Given the description of an element on the screen output the (x, y) to click on. 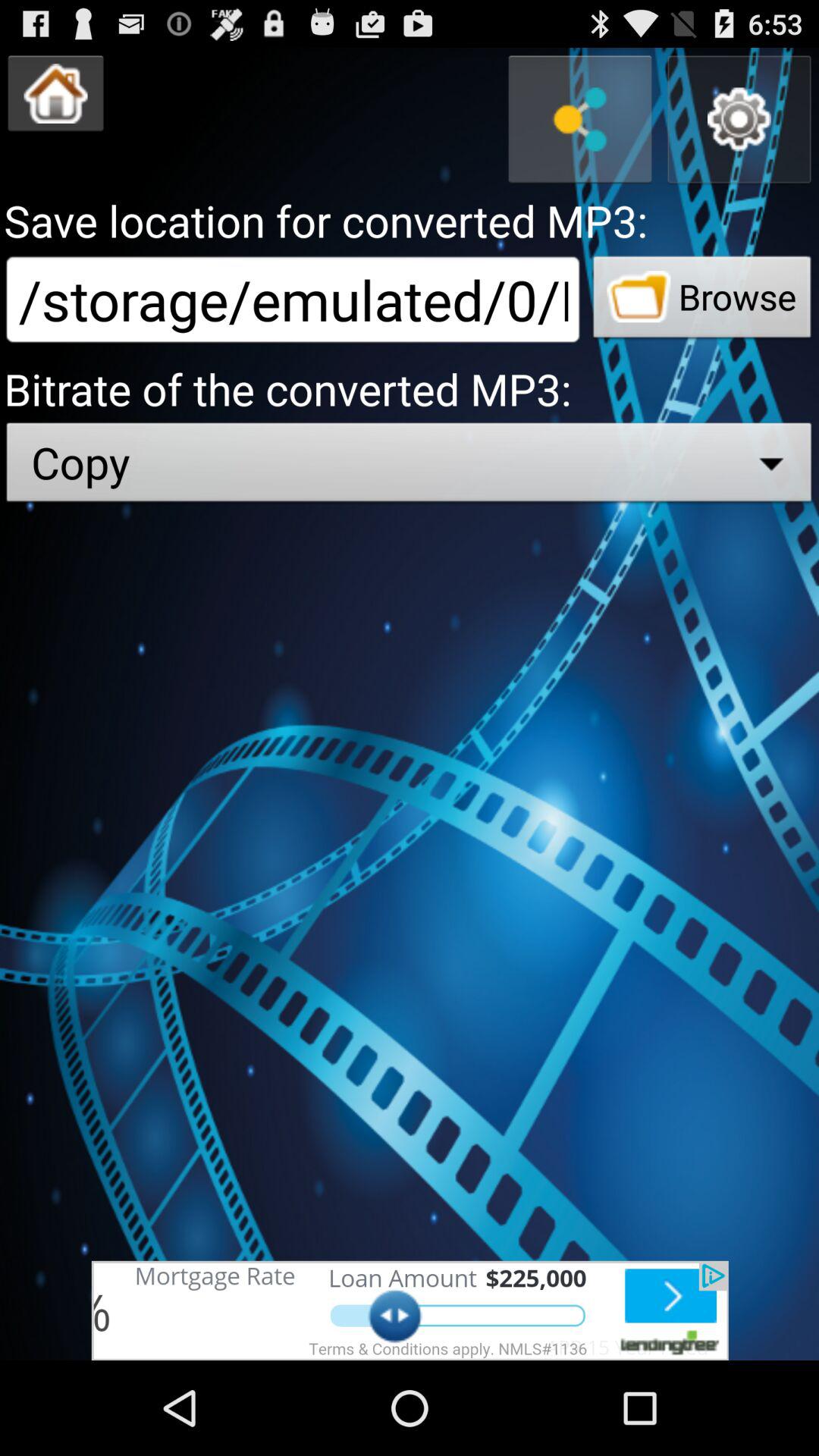
settings option (739, 119)
